Given the description of an element on the screen output the (x, y) to click on. 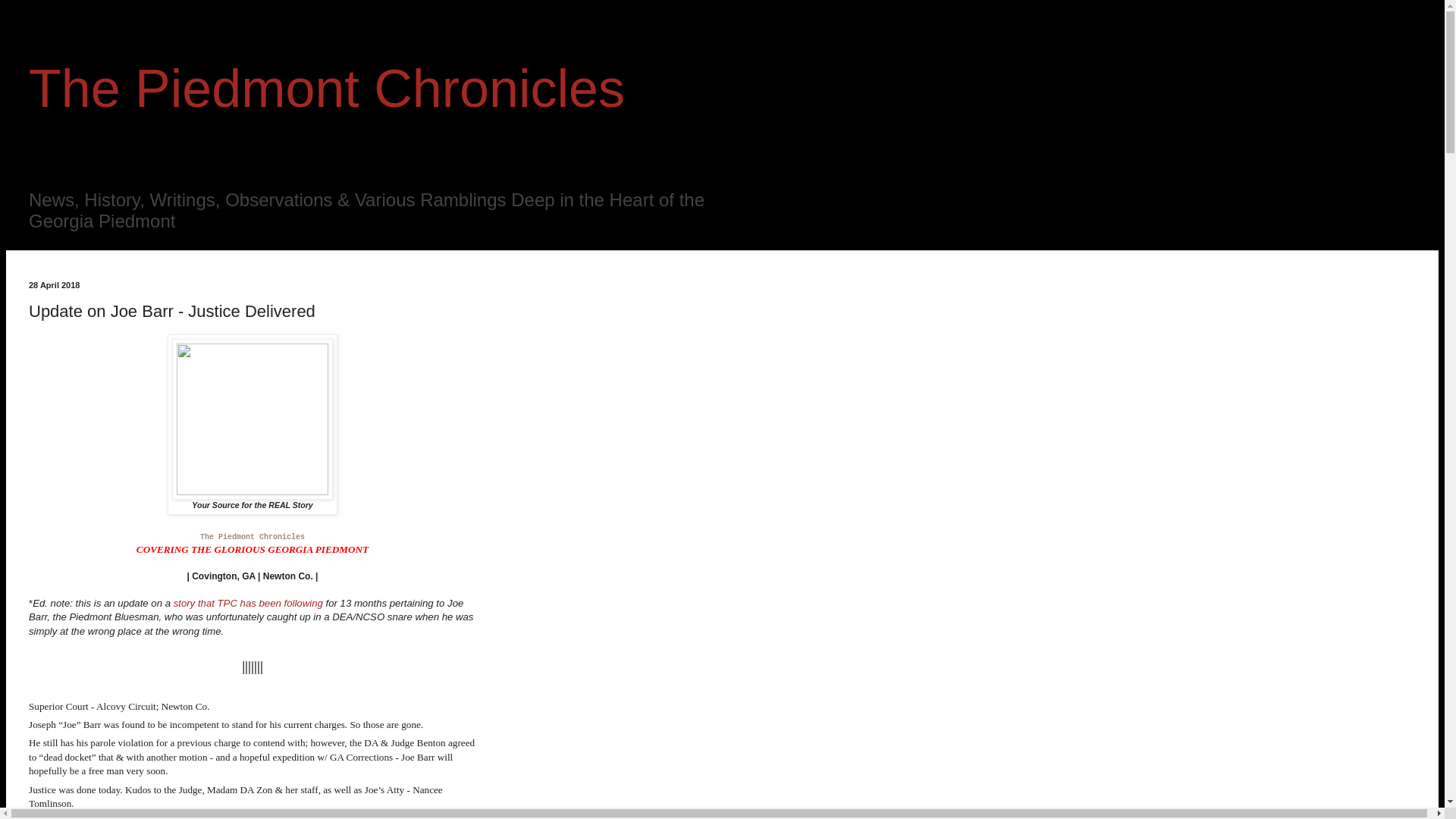
The Piedmont Chronicles (252, 537)
The Piedmont Chronicles (326, 87)
story that TPC has been following (248, 603)
